Given the description of an element on the screen output the (x, y) to click on. 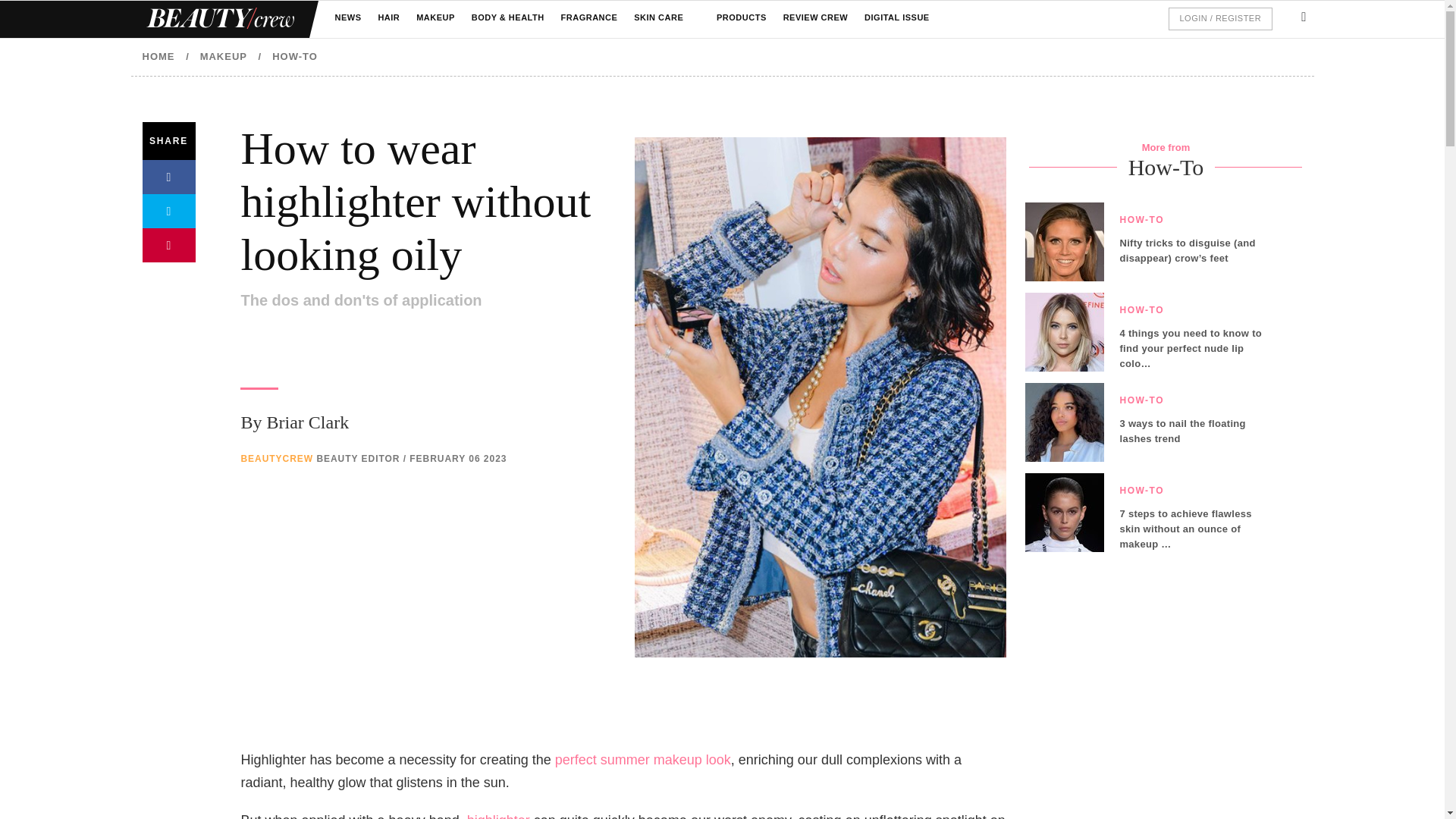
HAIR (387, 18)
NEWS (347, 18)
Home (218, 18)
MAKEUP (435, 18)
